Given the description of an element on the screen output the (x, y) to click on. 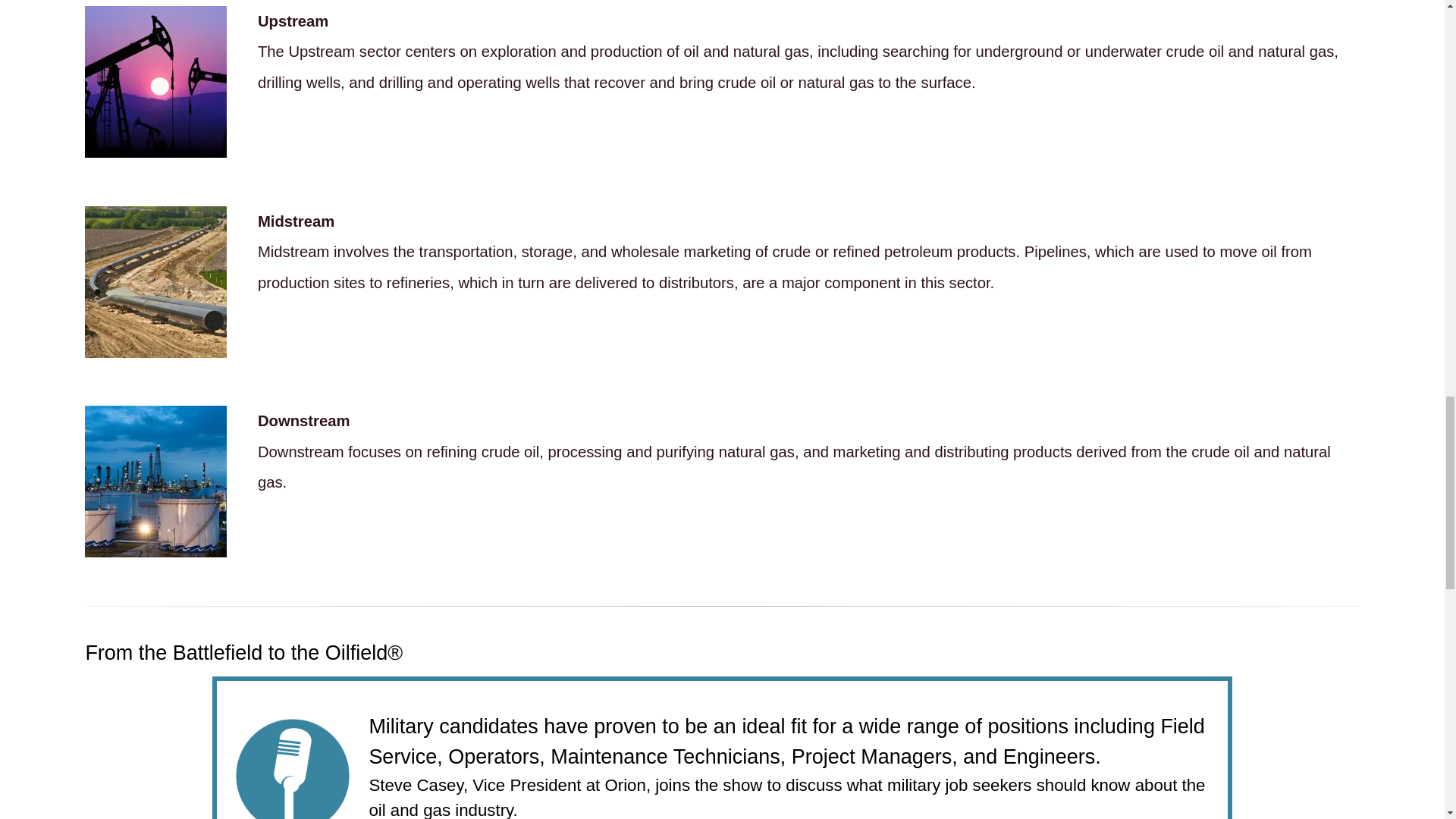
Skilled Professional Jobs (292, 769)
Midstream (155, 281)
Upstream (155, 81)
Downstream (155, 481)
